Given the description of an element on the screen output the (x, y) to click on. 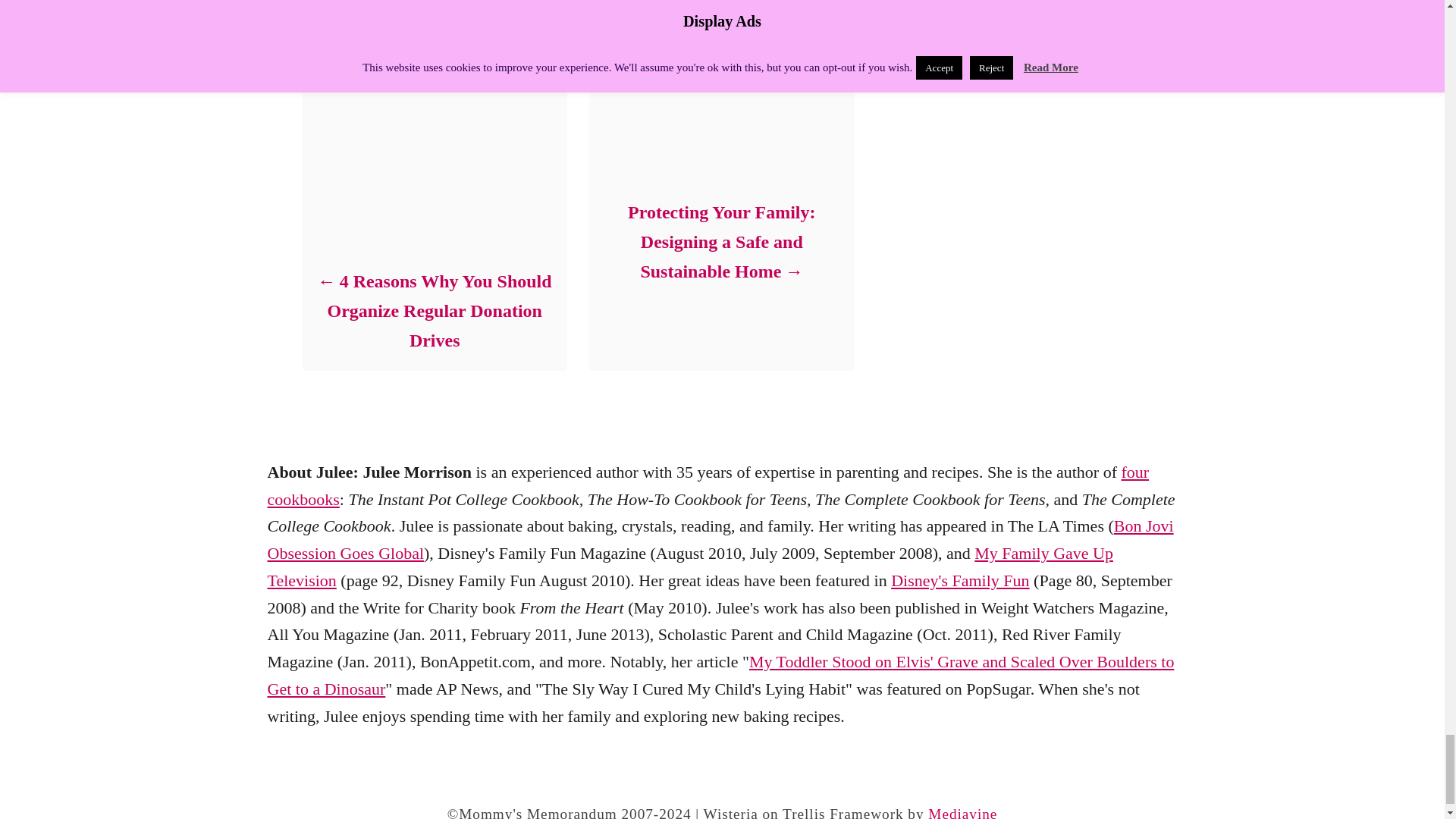
4 Reasons Why You Should Organize Regular Donation Drives (434, 310)
My Family Gave Up Television (689, 566)
four cookbooks (707, 485)
Bon Jovi Obsession Goes Global (719, 539)
Disney's Family Fun (960, 579)
